Given the description of an element on the screen output the (x, y) to click on. 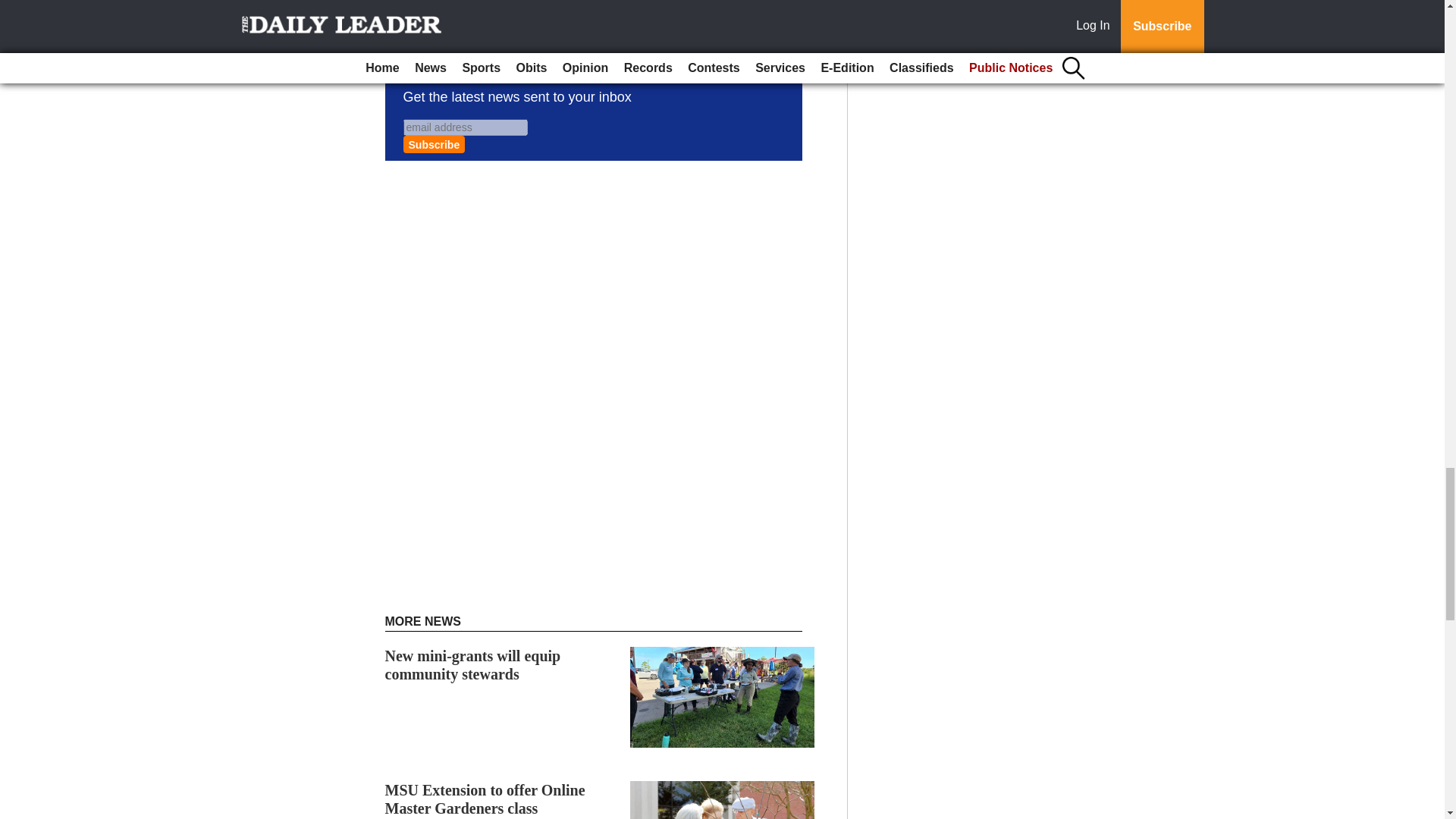
New mini-grants will equip community stewards (472, 664)
MSU Extension to offer Online Master Gardeners class (485, 799)
MSU Extension to offer Online Master Gardeners class (485, 799)
Subscribe (434, 144)
Subscribe (434, 144)
New mini-grants will equip community stewards (472, 664)
